Given the description of an element on the screen output the (x, y) to click on. 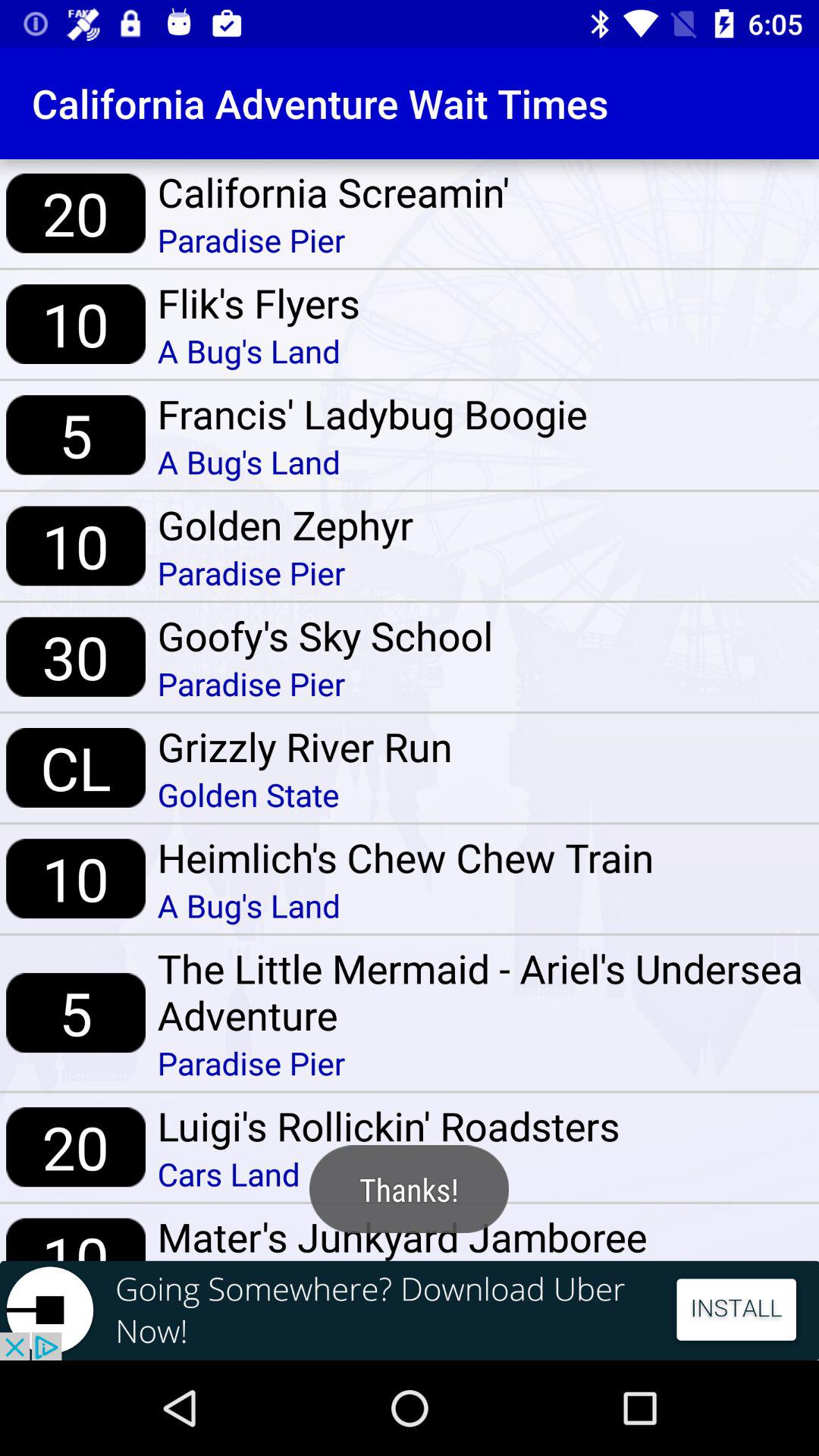
turn off california screamin' (333, 191)
